Given the description of an element on the screen output the (x, y) to click on. 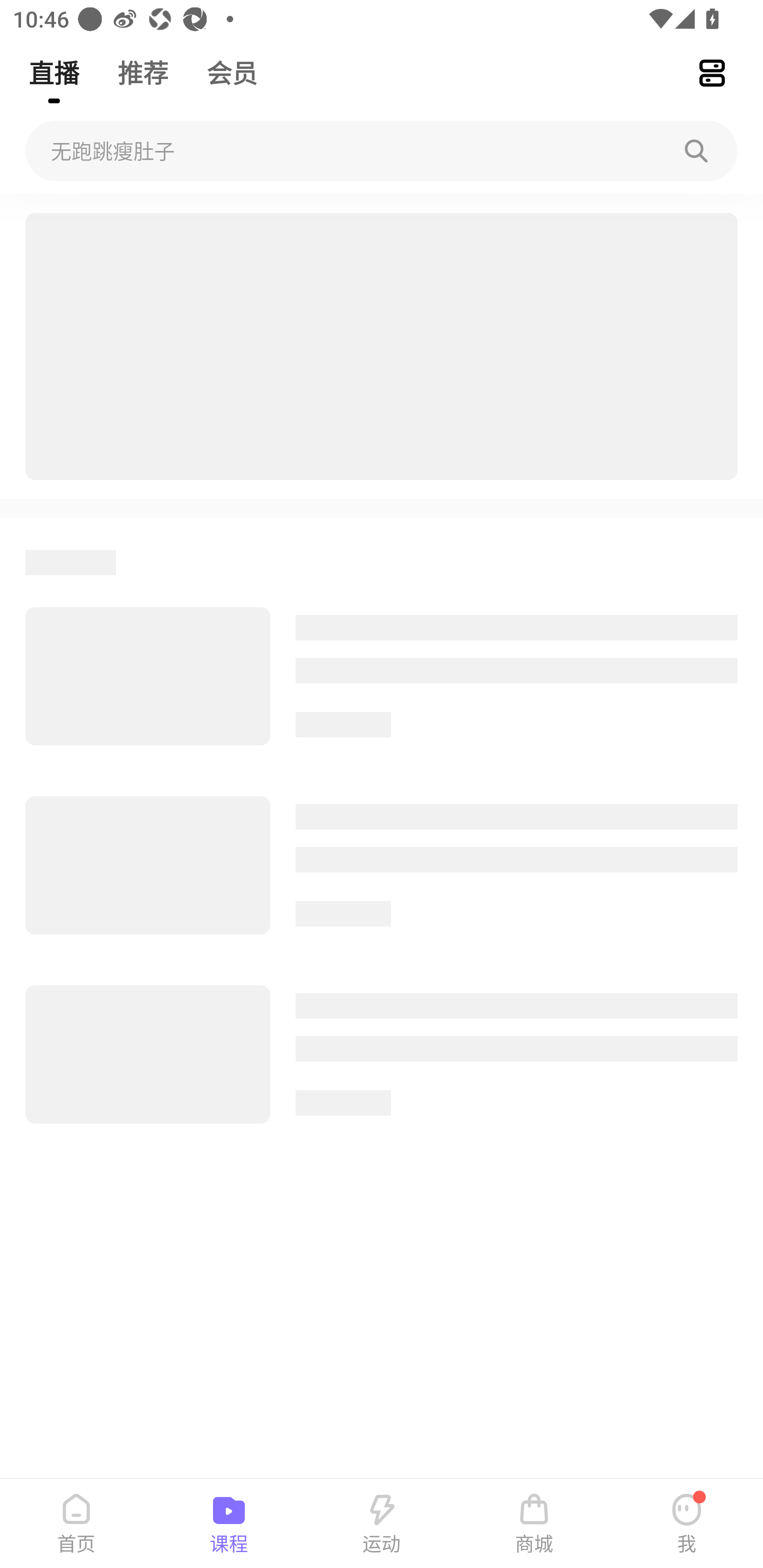
直播 (53, 64)
推荐 (142, 64)
会员 (231, 64)
无跑跳瘦肚子 (381, 150)
首页 (76, 1523)
课程 (228, 1523)
运动 (381, 1523)
商城 (533, 1523)
我 (686, 1523)
